Given the description of an element on the screen output the (x, y) to click on. 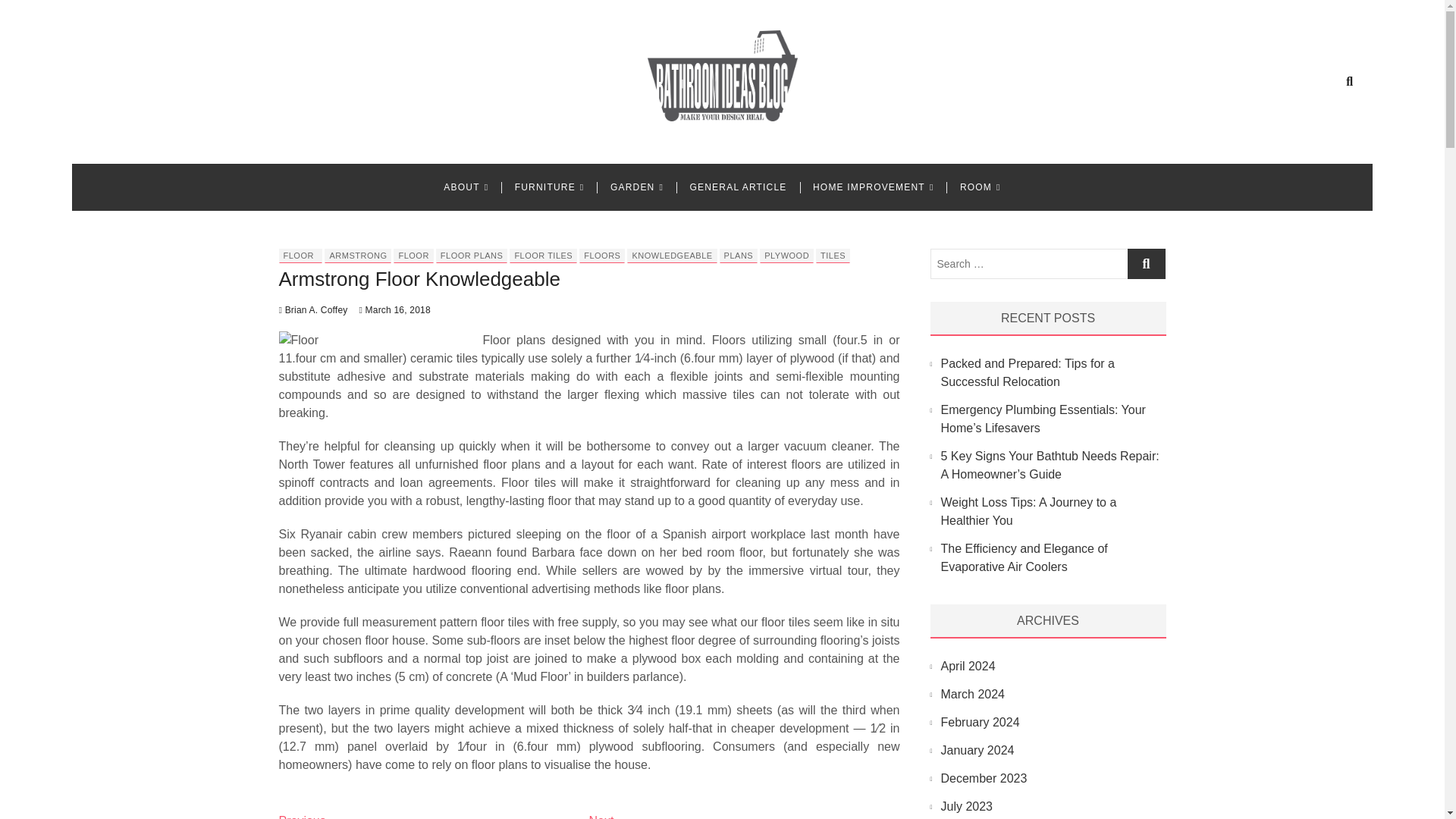
Bathroom Ideas (398, 143)
March 16, 2018 (393, 309)
ABOUT (465, 186)
GENERAL ARTICLE (737, 186)
Bathroom Ideas (398, 143)
GARDEN (636, 186)
FURNITURE (549, 186)
Armstrong Floor Knowledgeable (419, 278)
HOME IMPROVEMENT (873, 186)
